Given the description of an element on the screen output the (x, y) to click on. 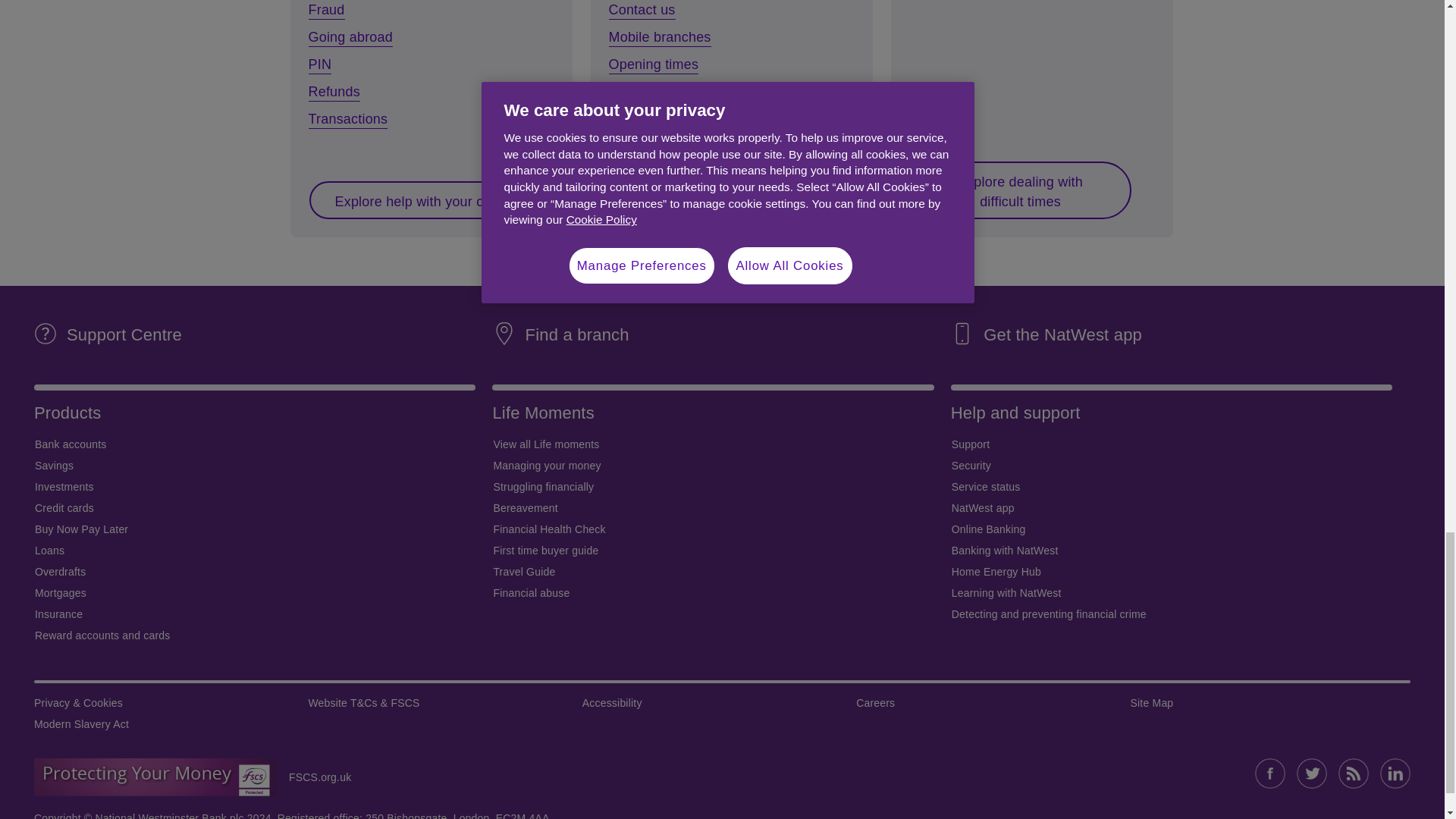
fscs (154, 777)
Explore help with your card (418, 199)
fscs (313, 776)
Explore banking near me (712, 199)
Explore dealing with difficult times (1019, 190)
